Given the description of an element on the screen output the (x, y) to click on. 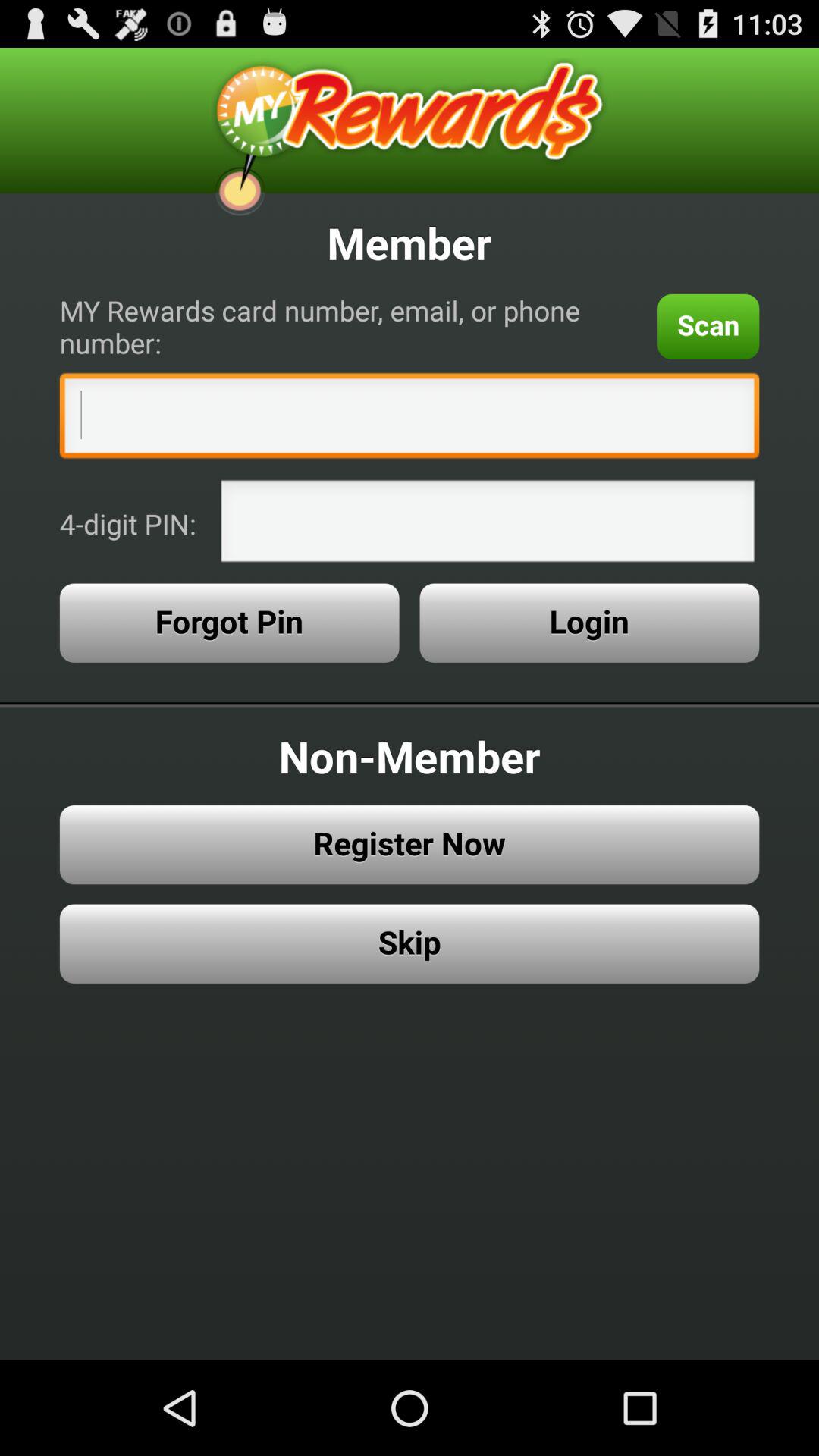
press the icon at the top right corner (708, 326)
